Given the description of an element on the screen output the (x, y) to click on. 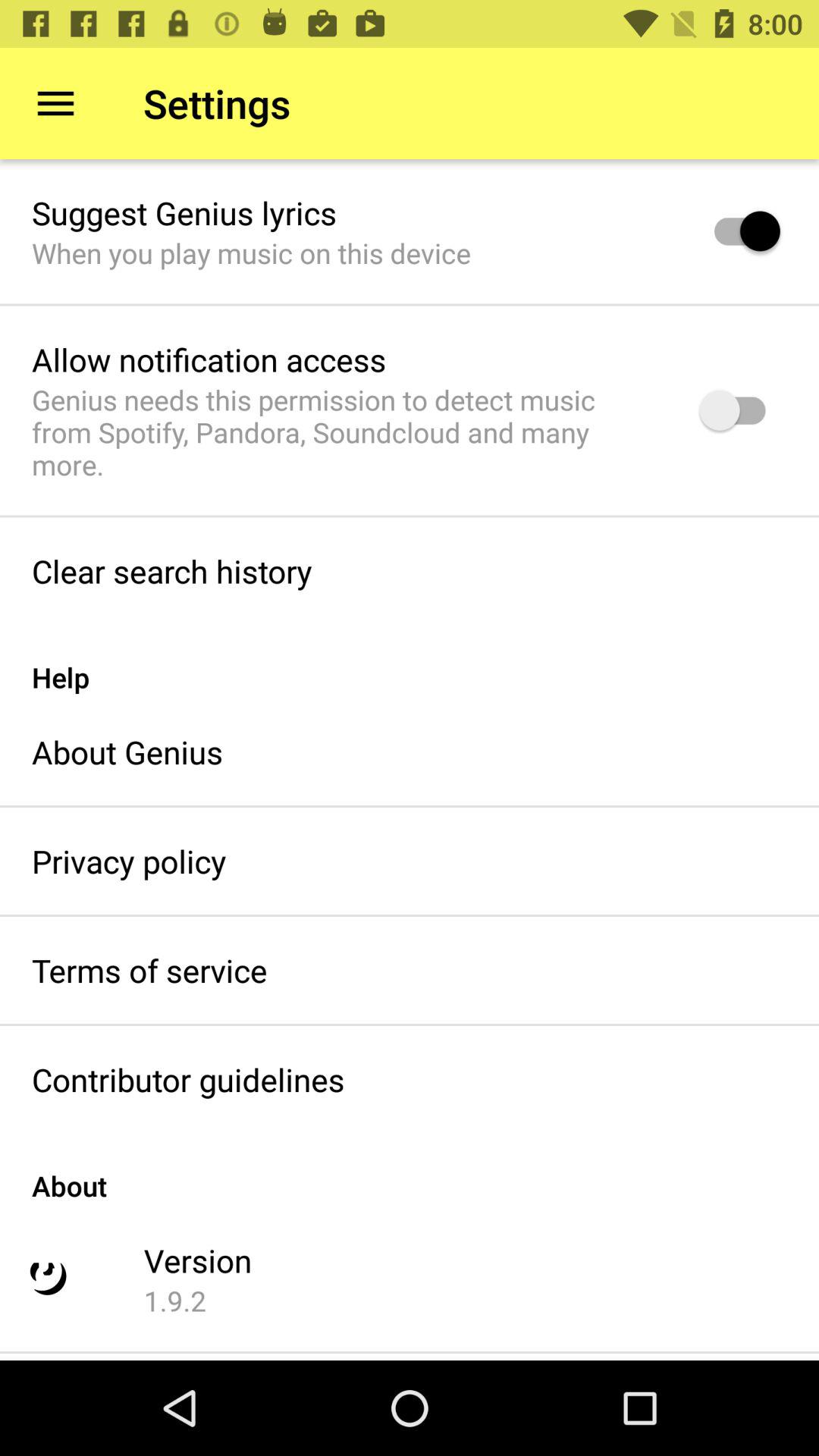
choose the item to the left of the settings item (55, 103)
